Given the description of an element on the screen output the (x, y) to click on. 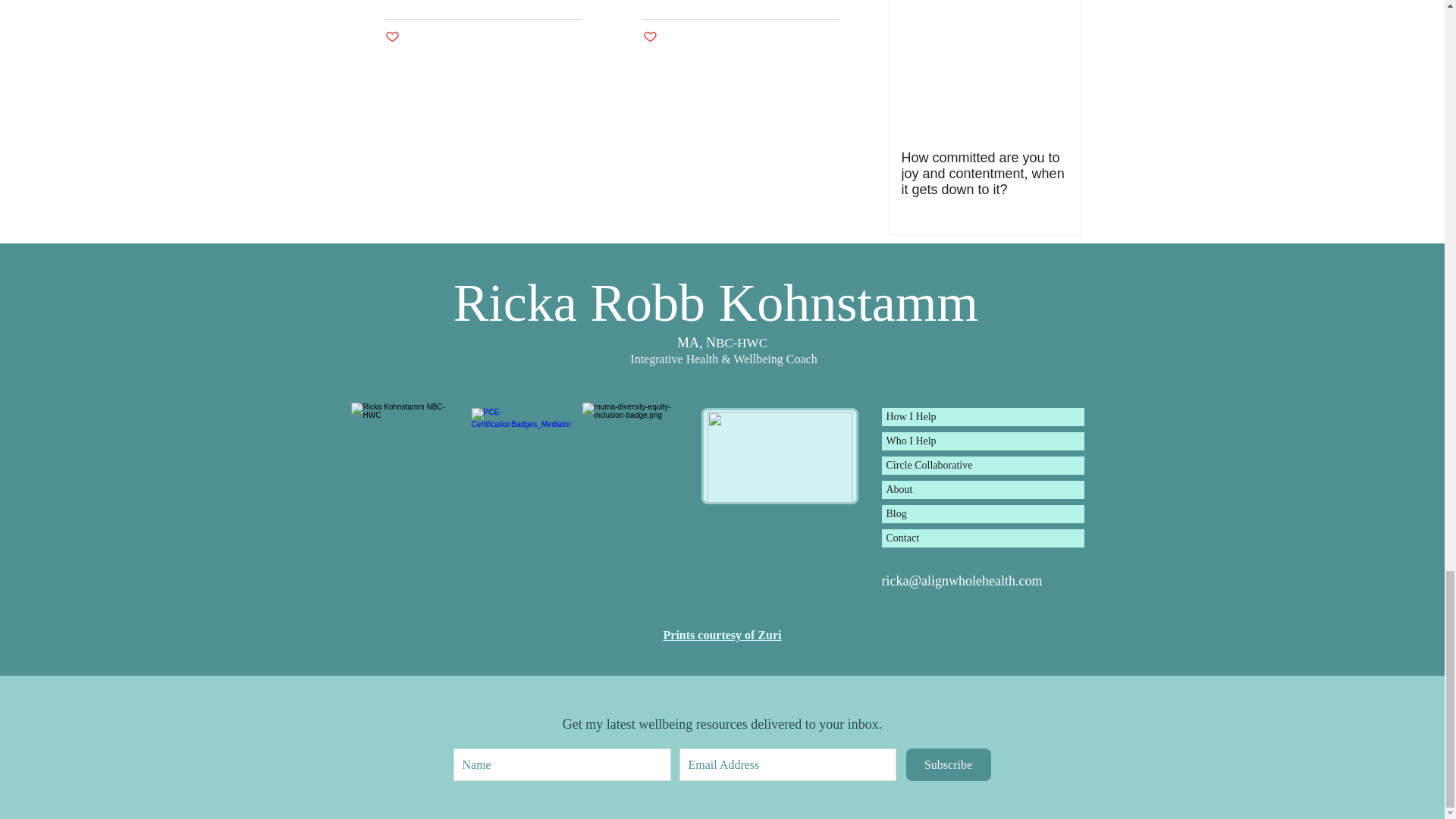
Diversity, Equity, and Inclusion inthe Workplce (637, 457)
Post not marked as liked (391, 37)
Planin Change Certified (521, 457)
Post not marked as liked (650, 37)
Assessing and Treating Sex Issues in Psychotherapy - Level 1 (778, 457)
